Given the description of an element on the screen output the (x, y) to click on. 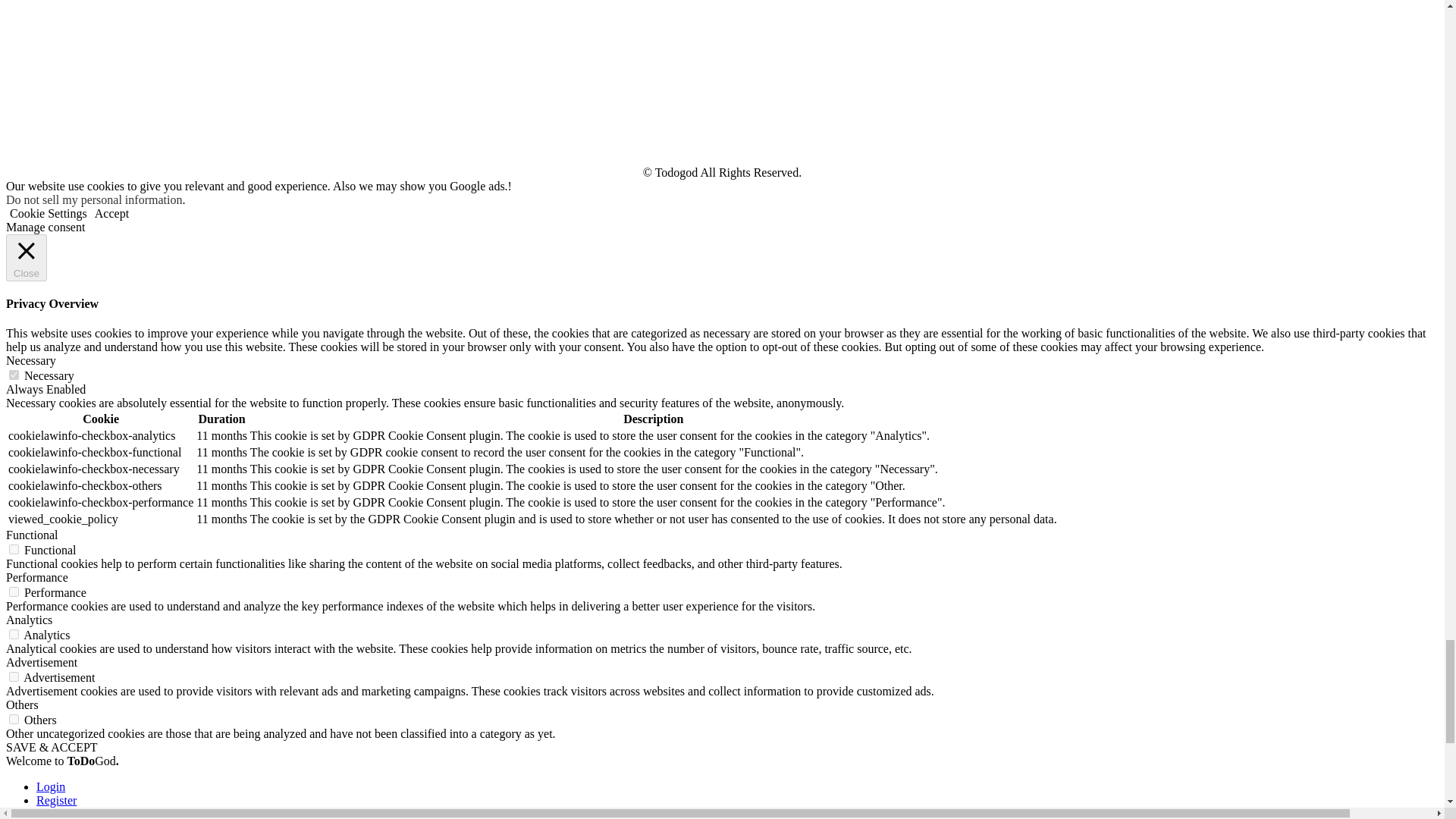
on (13, 634)
on (13, 676)
on (13, 549)
on (13, 375)
on (13, 592)
on (13, 718)
